Given the description of an element on the screen output the (x, y) to click on. 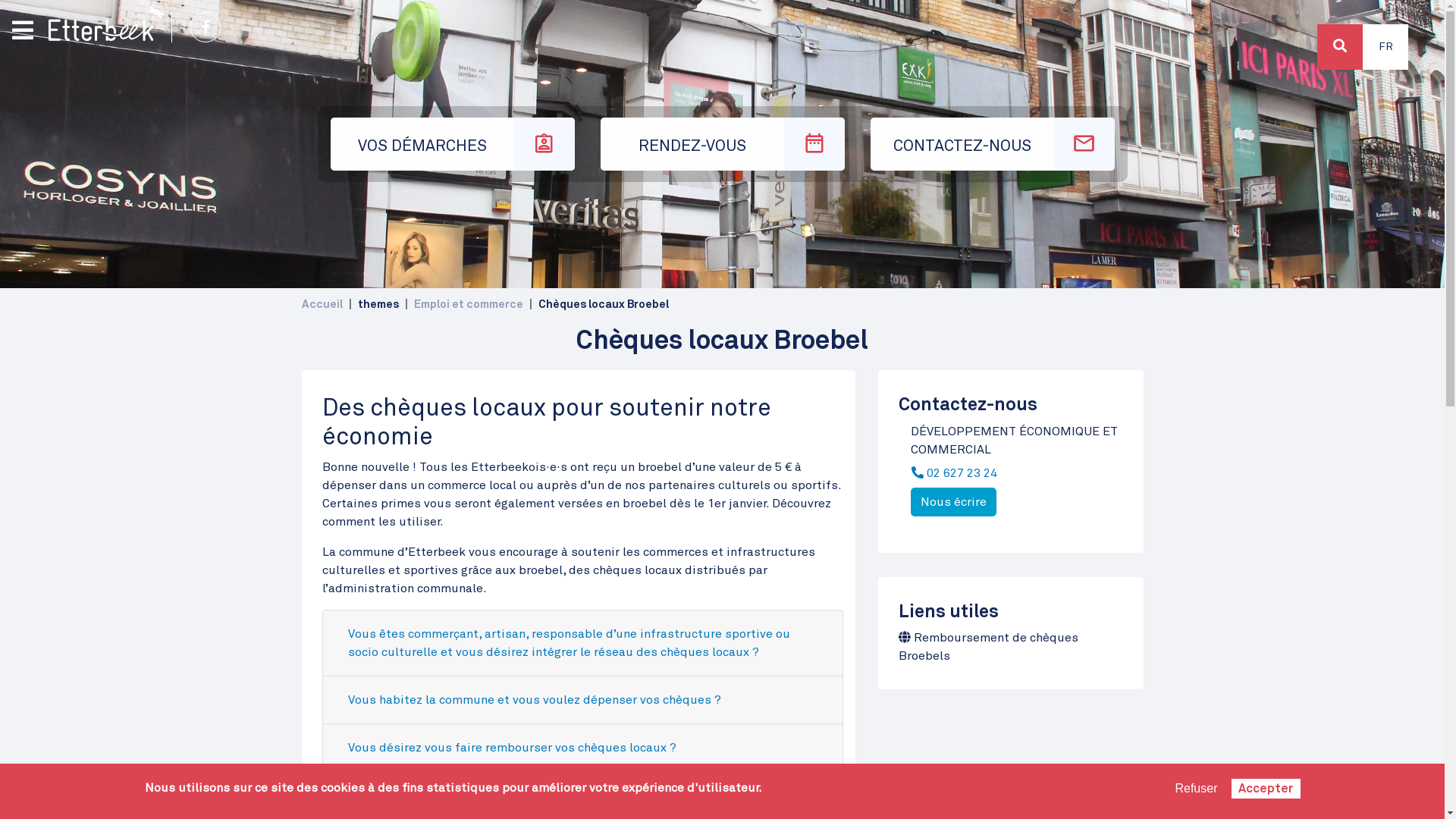
Emploi et commerce Element type: text (468, 304)
RENDEZ-VOUS Element type: text (722, 143)
Accepter Element type: text (1265, 788)
Accueil Element type: text (321, 304)
FR Element type: text (1385, 47)
Refuser Element type: text (1195, 788)
Accueil Element type: hover (106, 23)
02 627 23 24 Element type: text (958, 472)
CONTACTEZ-NOUS Element type: text (992, 143)
Aller au contenu principal Element type: text (721, 1)
